Given the description of an element on the screen output the (x, y) to click on. 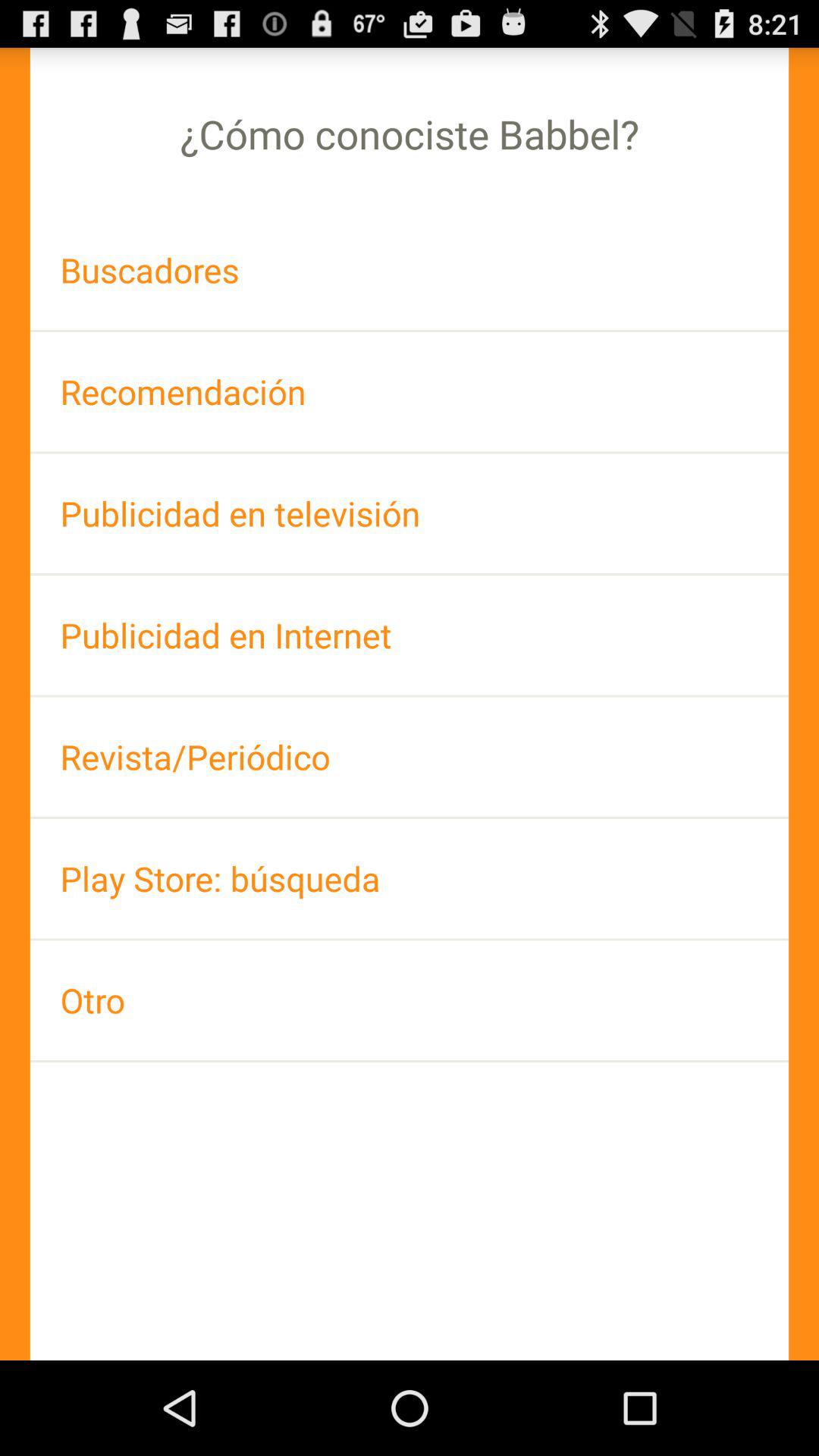
open the app above the otro icon (409, 878)
